Given the description of an element on the screen output the (x, y) to click on. 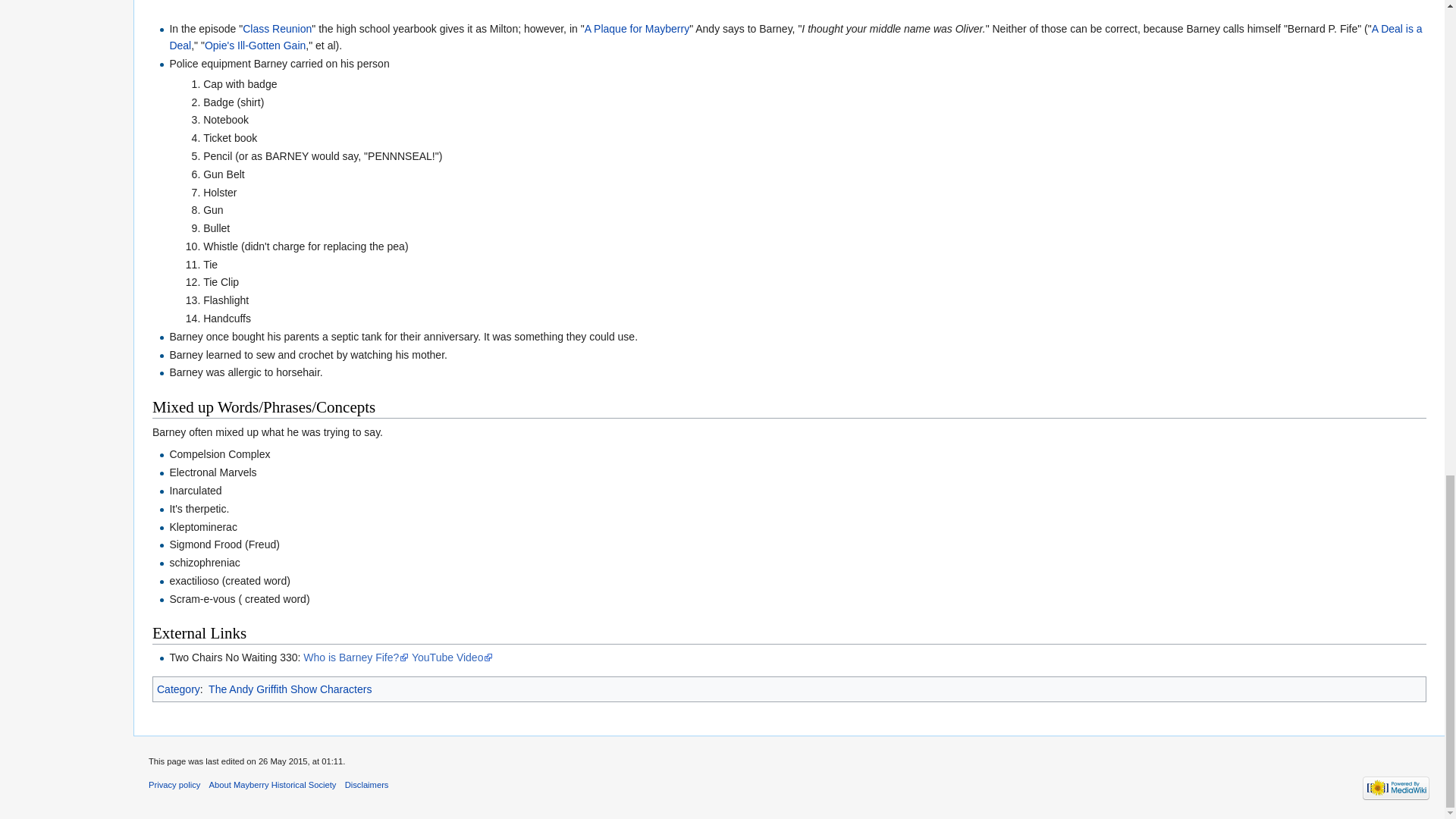
Category (178, 689)
YouTube Video (452, 657)
Opie's Ill-Gotten Gain (255, 45)
Who is Barney Fife? (355, 657)
Class Reunion (277, 28)
A Plaque for Mayberry (637, 28)
Special:Categories (178, 689)
Category:The Andy Griffith Show Characters (289, 689)
A Deal is a Deal (795, 36)
The Andy Griffith Show Characters (289, 689)
